Given the description of an element on the screen output the (x, y) to click on. 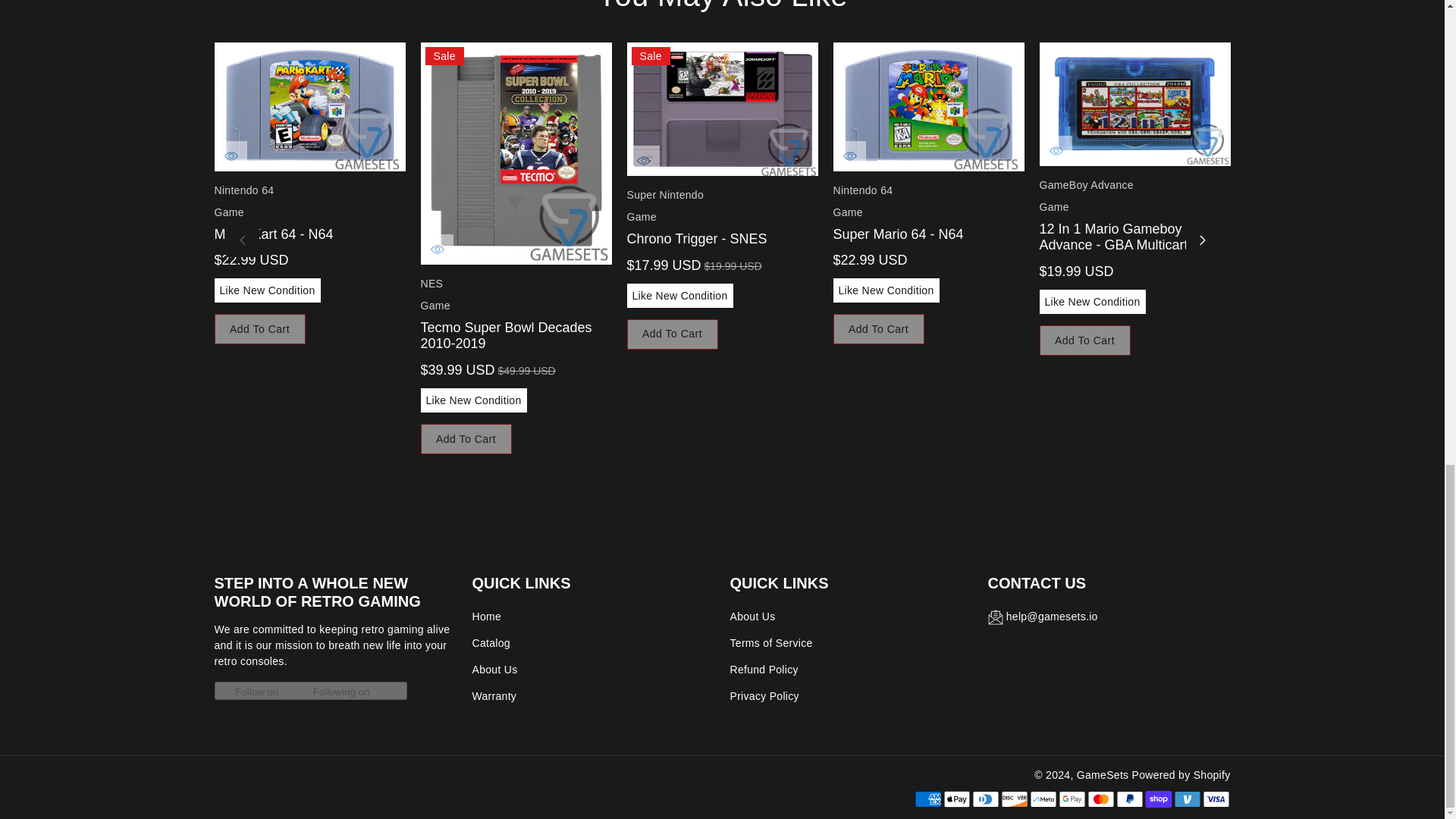
Super Mario 64 - N64 (927, 106)
American Express (927, 799)
Mario Kart 64 - N64 (309, 106)
12 in 1 Mario Gameboy Advance - GBA Multicart (1134, 104)
Pokemon Emerald Kaizo - GBA Romhack (1339, 104)
Chrono Trigger - SNES (721, 109)
